Given the description of an element on the screen output the (x, y) to click on. 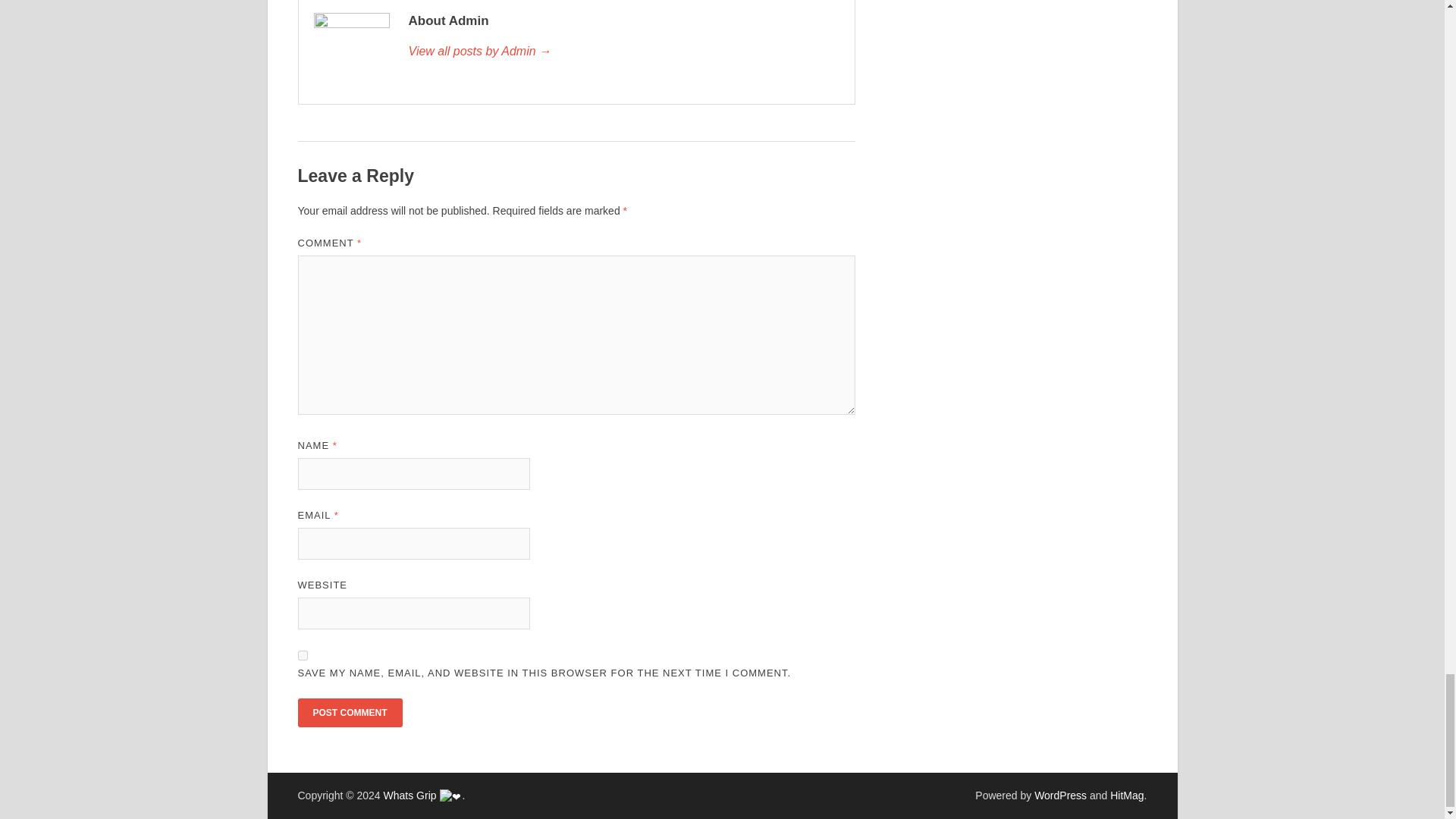
Post Comment (349, 712)
HitMag WordPress Theme (1125, 795)
yes (302, 655)
Post Comment (349, 712)
Admin (622, 51)
WordPress (1059, 795)
